Given the description of an element on the screen output the (x, y) to click on. 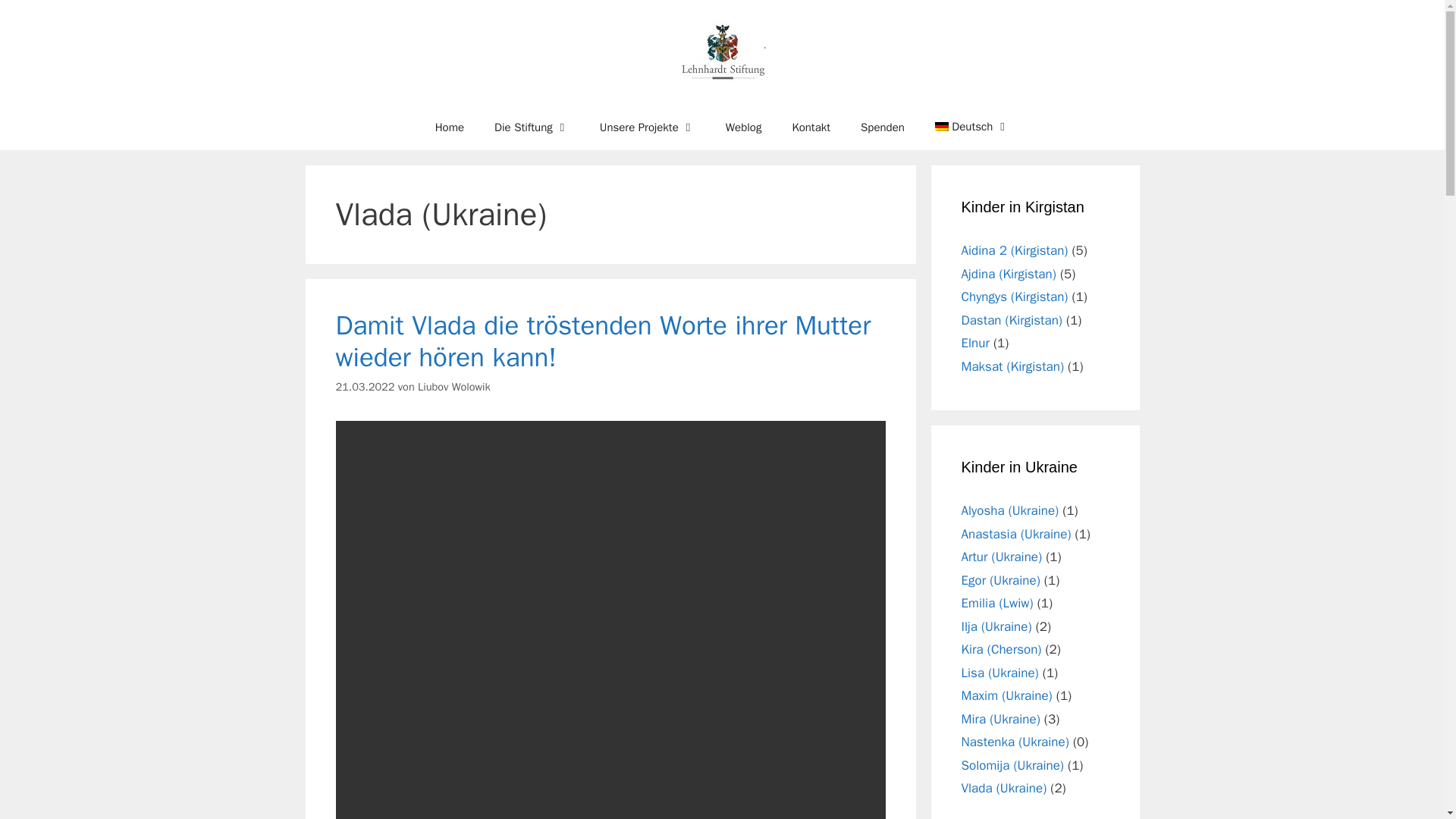
Deutsch (972, 126)
Unsere Projekte (647, 126)
Home (449, 126)
Deutsch (972, 126)
Spenden (882, 126)
Weblog (743, 126)
Die Stiftung (532, 126)
Kontakt (810, 126)
Liubov Wolowik (453, 386)
